Given the description of an element on the screen output the (x, y) to click on. 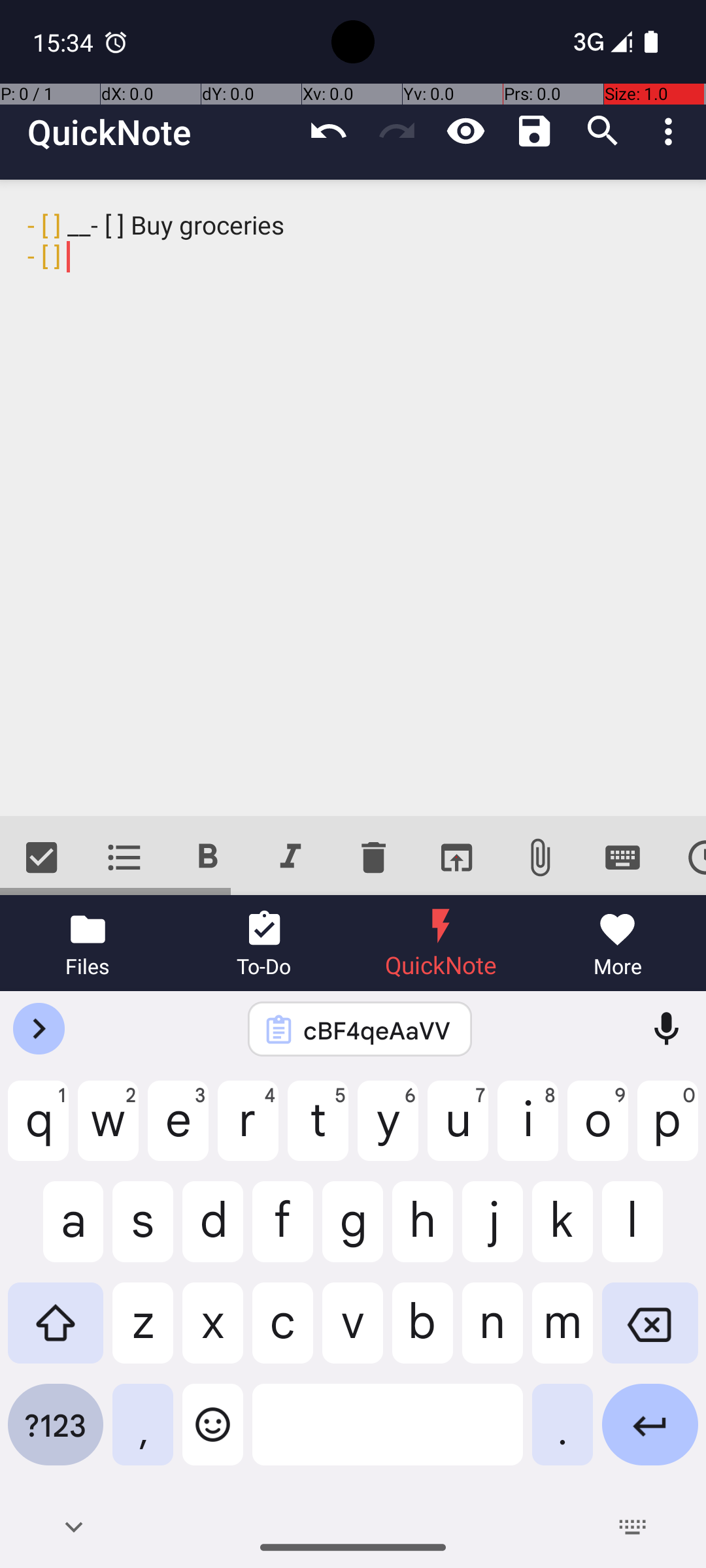
- [ ] __- [ ] Buy groceries
- [ ]  Element type: android.widget.EditText (353, 497)
cBF4qeAaVV Element type: android.widget.TextView (377, 1029)
